Given the description of an element on the screen output the (x, y) to click on. 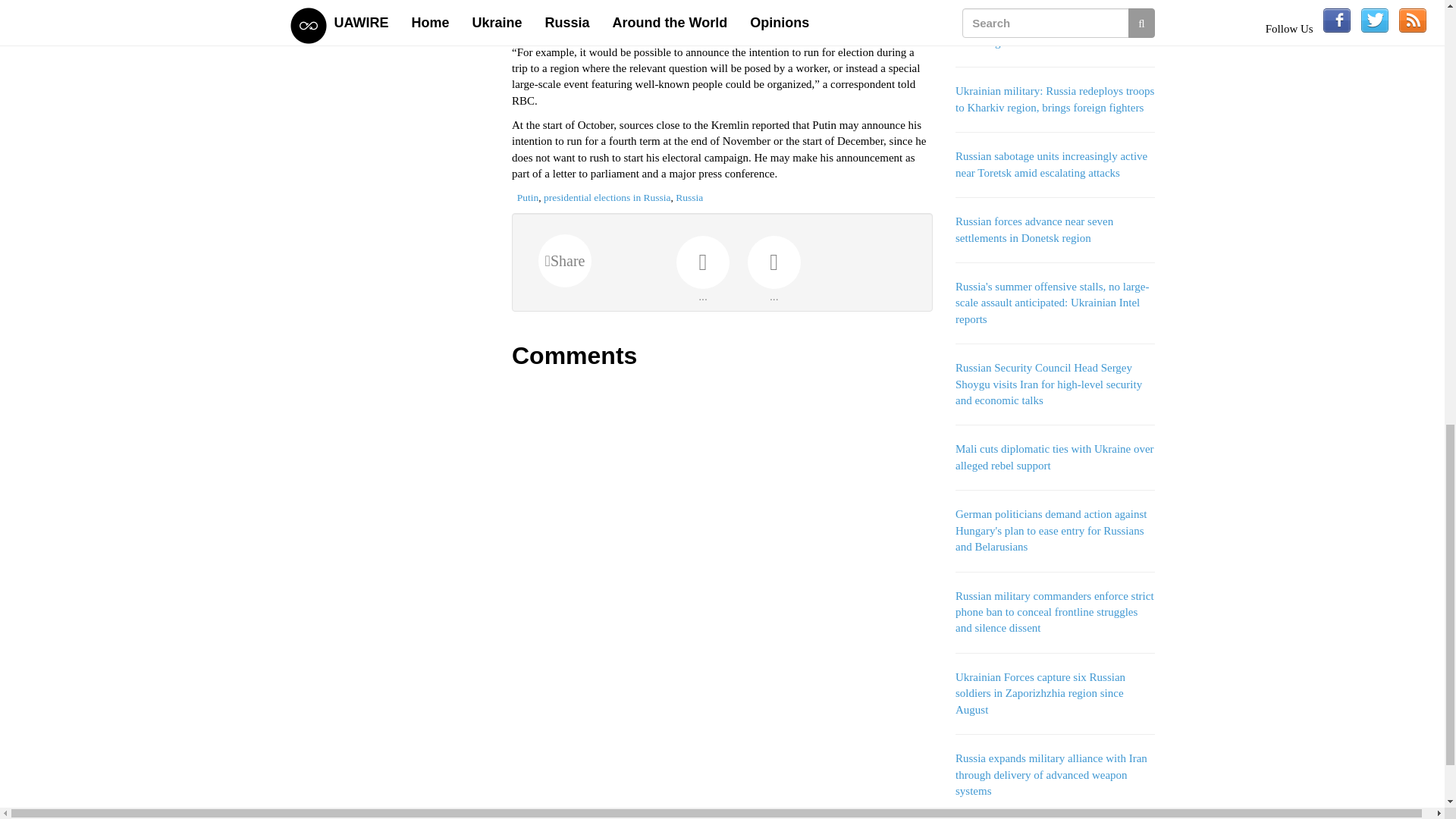
Russia (689, 197)
